Given the description of an element on the screen output the (x, y) to click on. 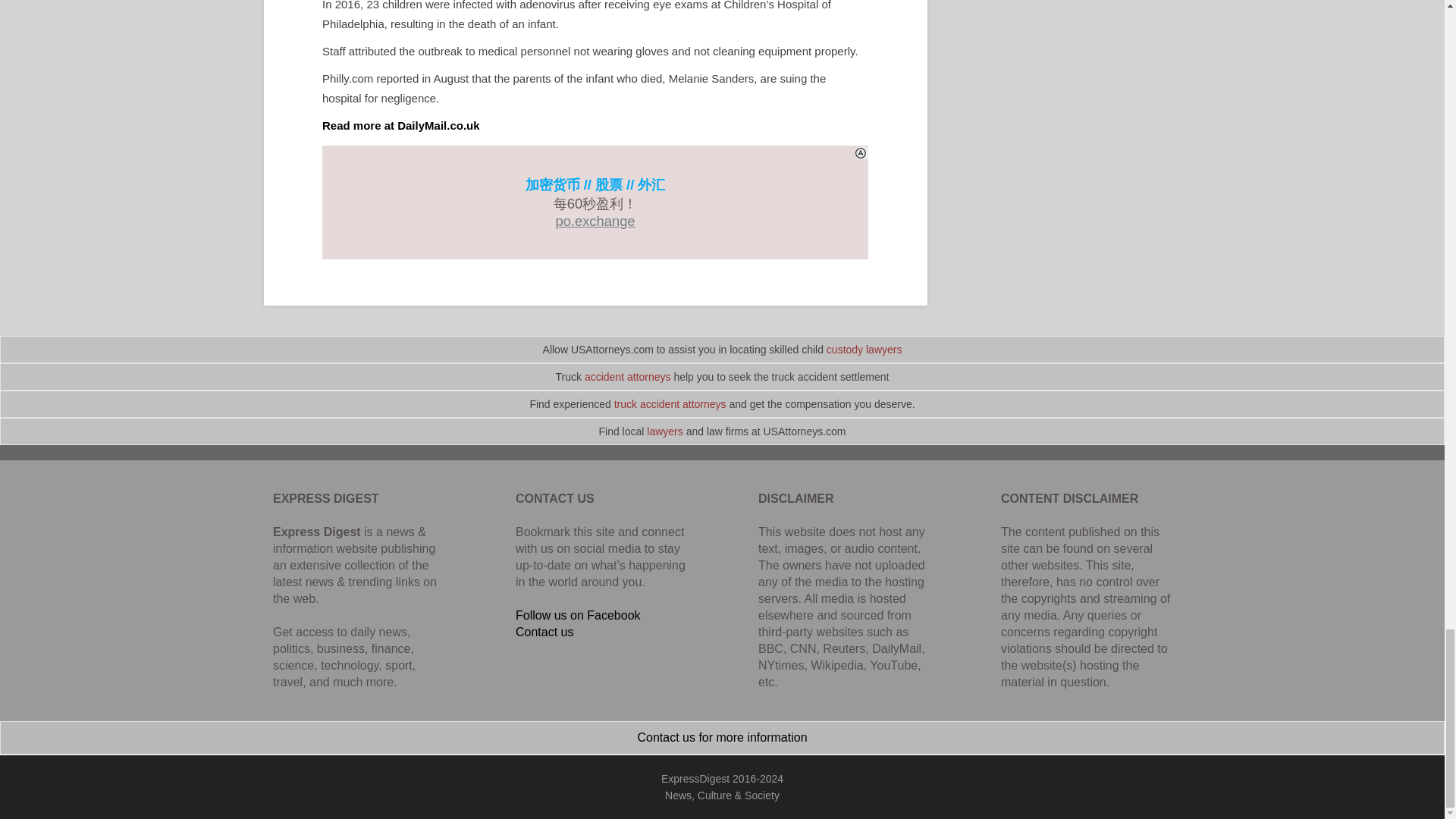
lawyers (664, 431)
Read more at DailyMail.co.uk (400, 124)
accident attorneys (628, 377)
custody lawyers (864, 349)
truck accident attorneys (670, 404)
